Given the description of an element on the screen output the (x, y) to click on. 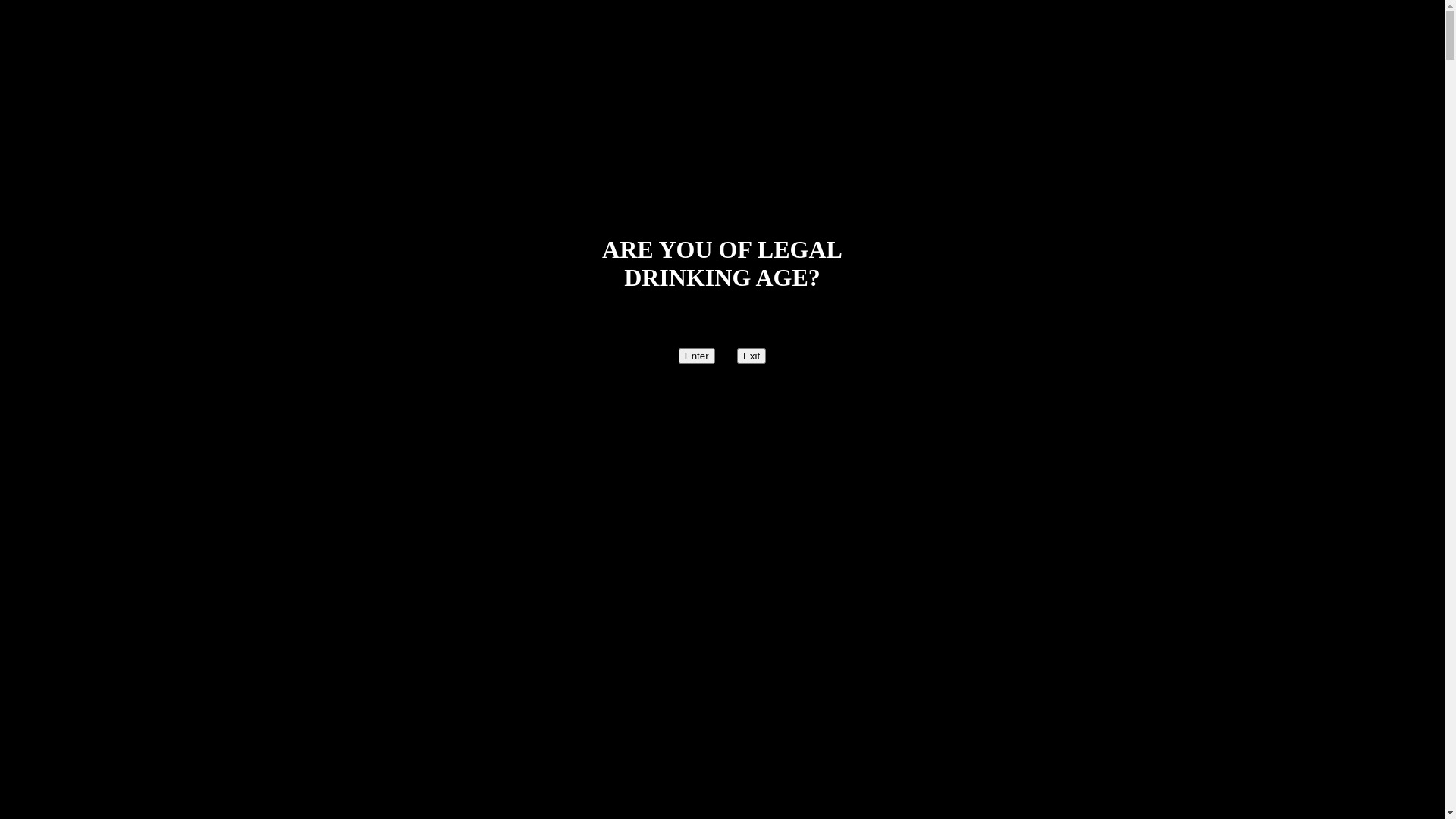
Brew Pub Element type: text (60, 238)
Shirts & Sweaters Element type: text (110, 183)
Hats & Toques Element type: text (102, 197)
Careers Element type: text (84, 281)
Tap Room Element type: text (61, 224)
Close menu Element type: text (40, 56)
Home Element type: text (50, 112)
Connect Element type: text (56, 251)
Beer Element type: text (77, 169)
Enter Element type: text (696, 356)
Shop Element type: text (48, 126)
Exit Element type: text (751, 356)
About Element type: text (51, 294)
Glassware Element type: text (91, 210)
DEALS! Element type: text (87, 156)
Skip to content Element type: text (42, 12)
